Given the description of an element on the screen output the (x, y) to click on. 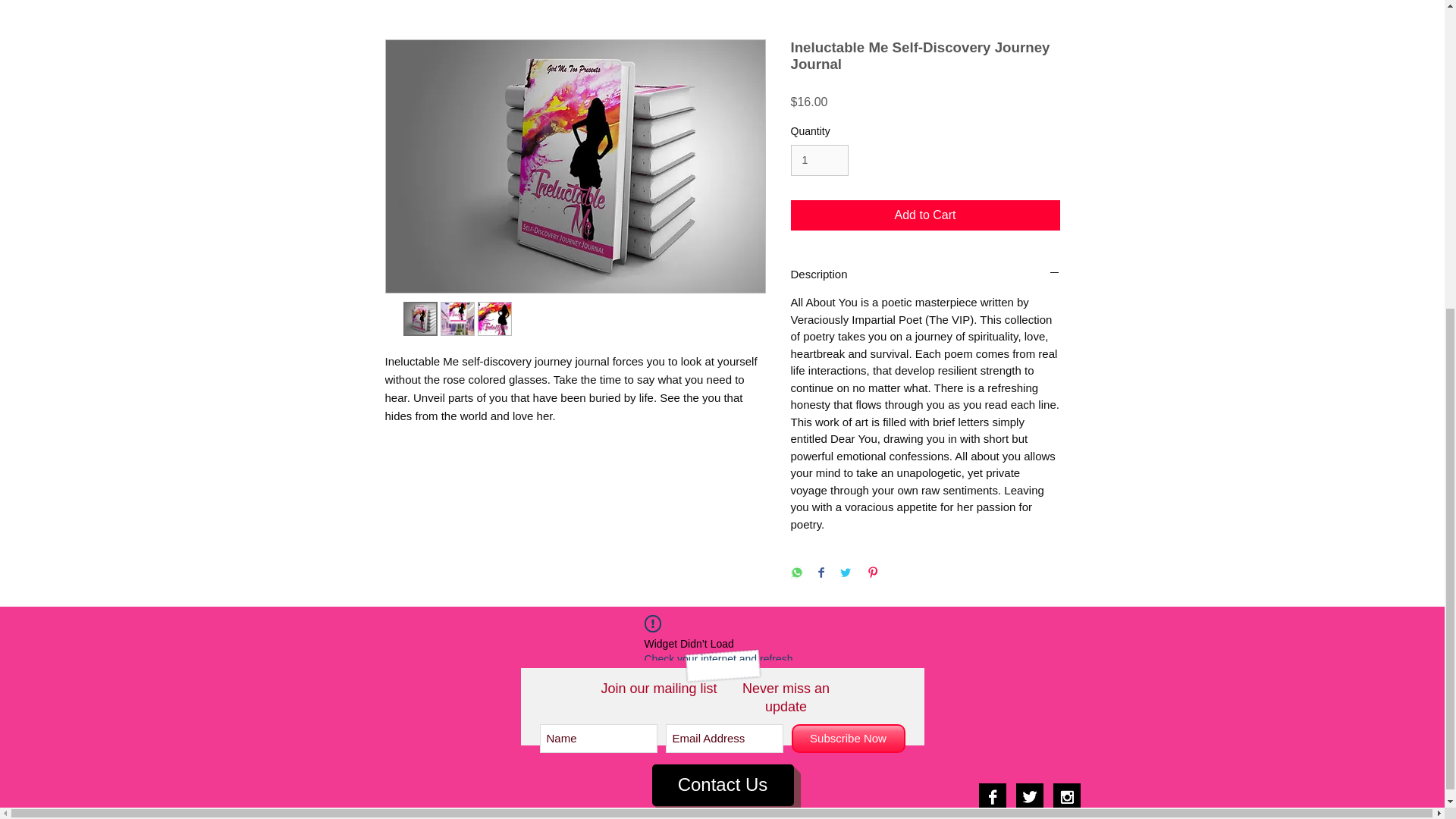
1 (818, 160)
Description (924, 273)
Add to Cart (924, 214)
